Given the description of an element on the screen output the (x, y) to click on. 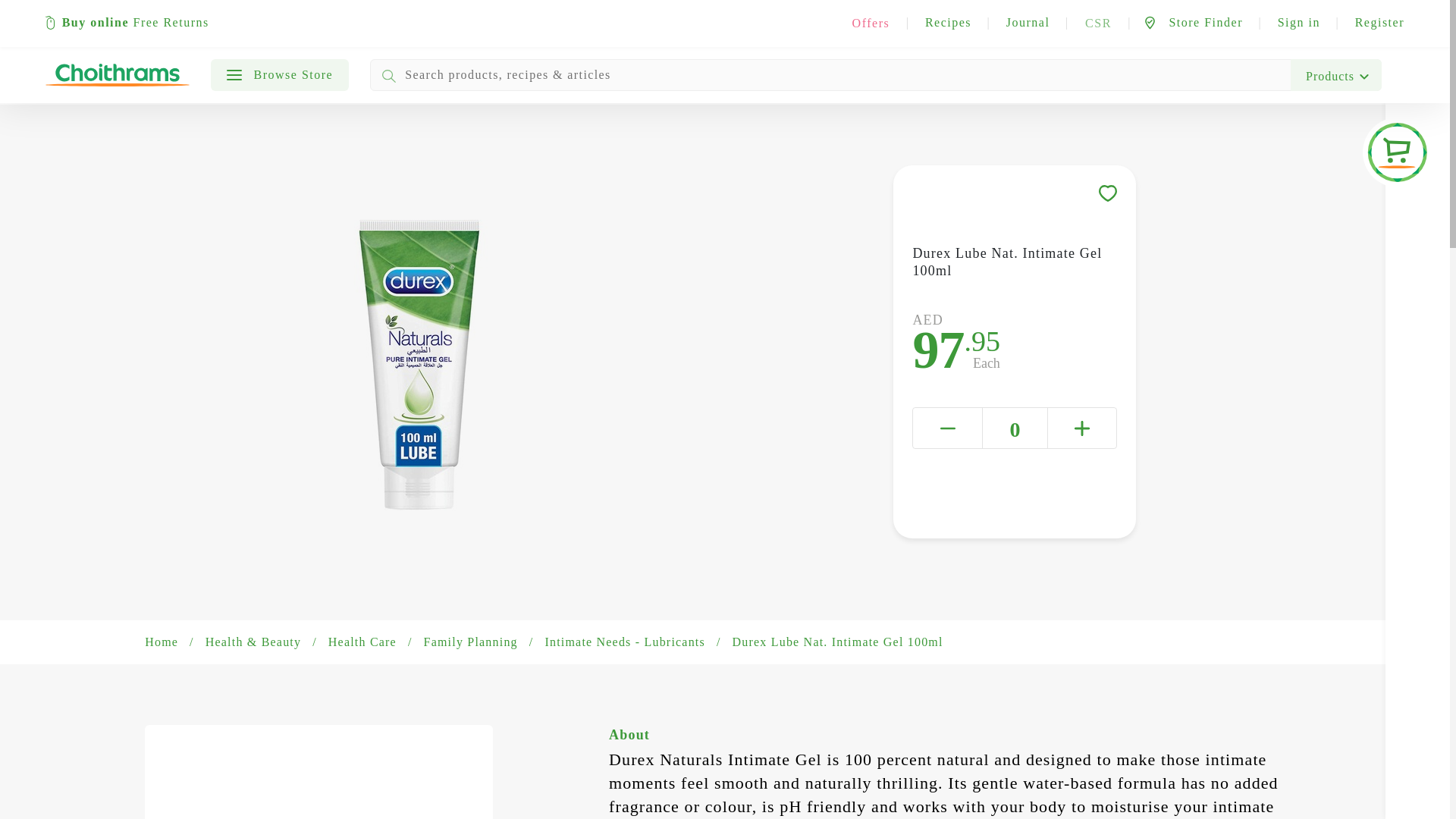
Store Finder (1192, 19)
Browse Store (280, 74)
Register (1380, 19)
Sign in (1299, 19)
Recipes (947, 19)
Journal (1027, 19)
Offers (871, 23)
